Given the description of an element on the screen output the (x, y) to click on. 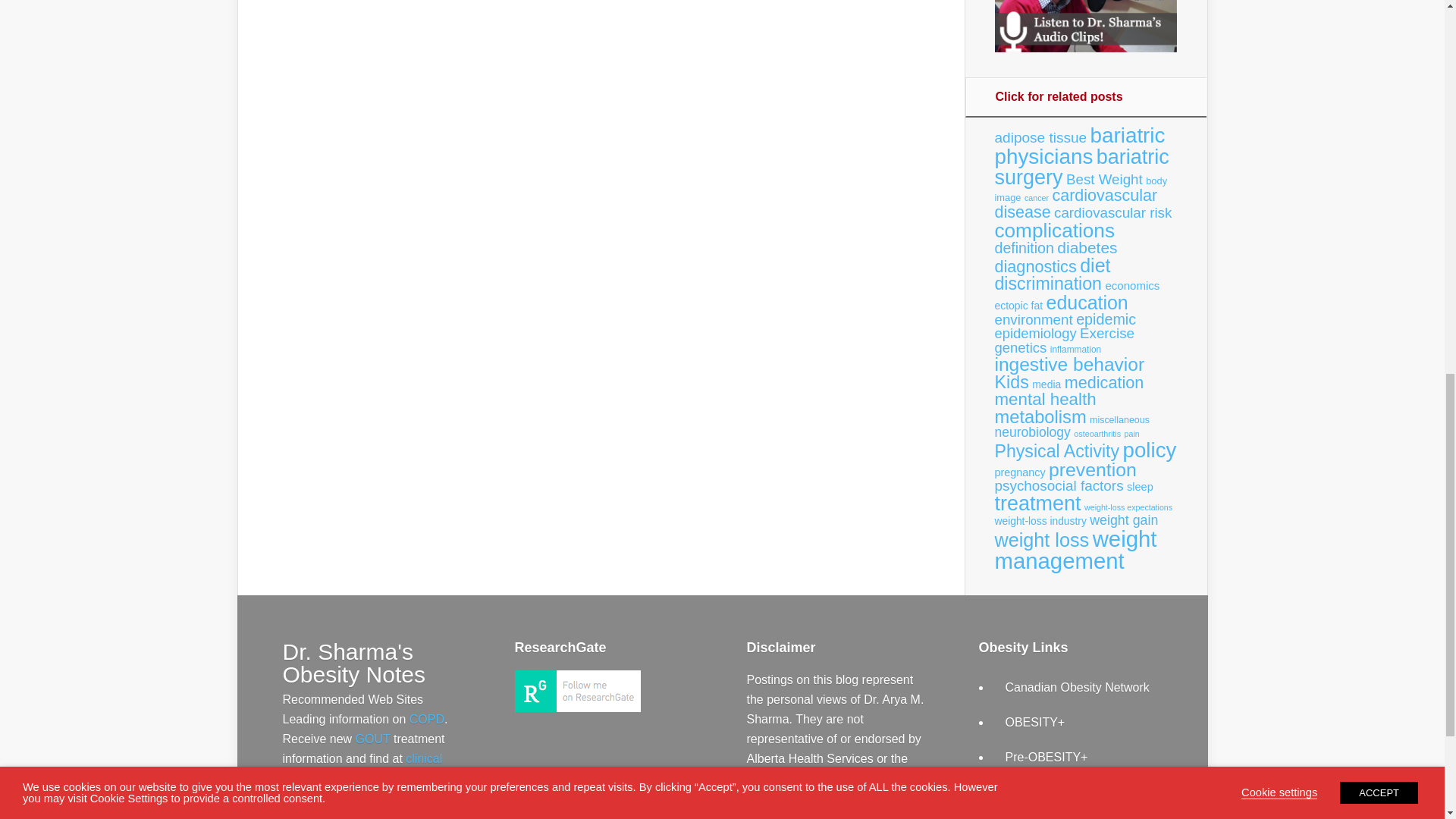
cardiovascular disease (1075, 203)
cardiovascular risk (1113, 212)
ectopic fat (1018, 305)
Best Weight (1103, 179)
cancer (1036, 197)
discrimination (1048, 283)
body image (1080, 189)
definition (1024, 247)
complications (1054, 230)
COPD (426, 718)
education (1087, 301)
economics (1131, 285)
environment (1033, 318)
Canadian Obesity Network (1078, 686)
bariatric physicians (1080, 145)
